Given the description of an element on the screen output the (x, y) to click on. 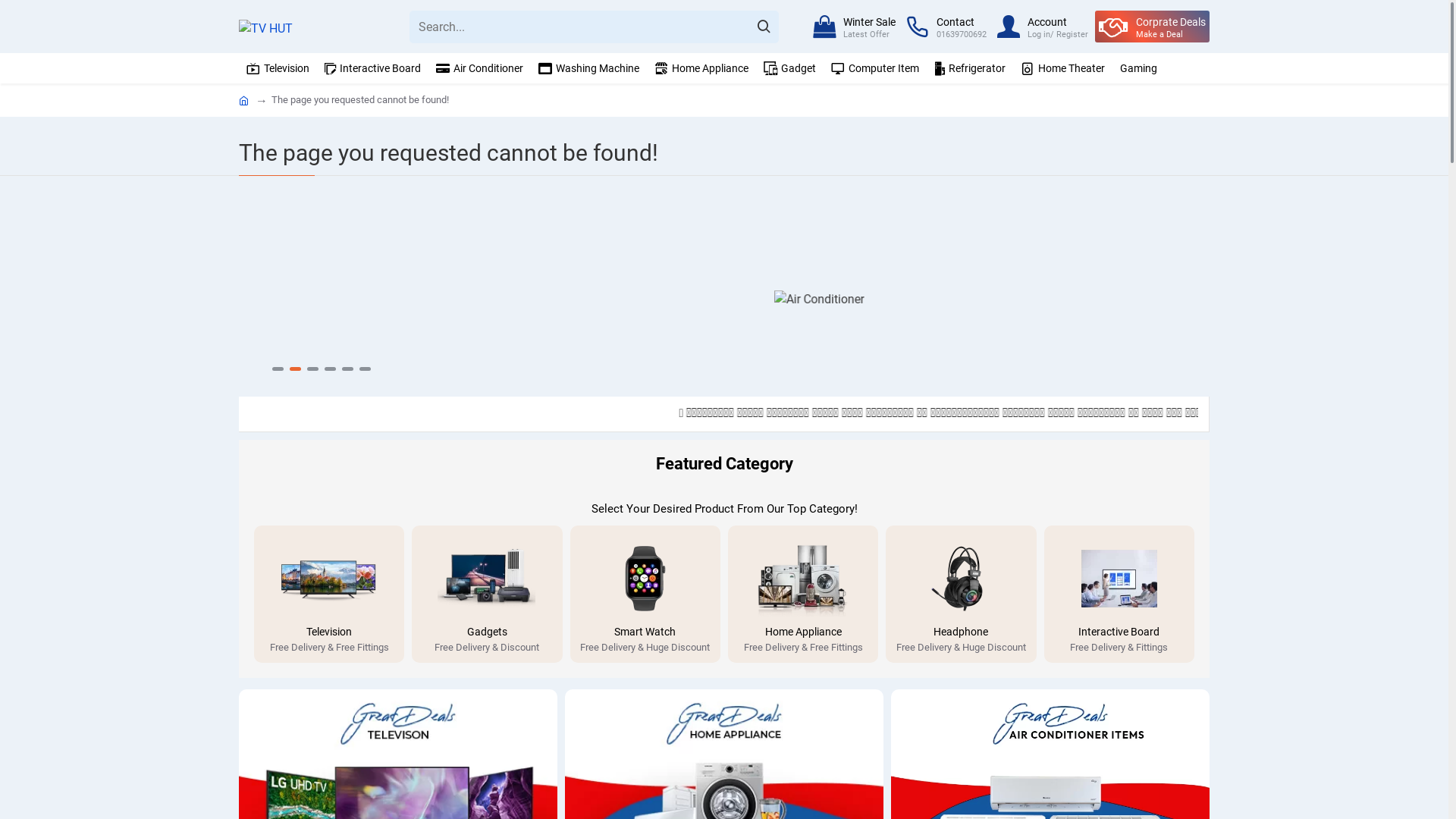
Interactive Board
Free Delivery & Fittings Element type: text (1119, 733)
Account
Log in/ Register Element type: text (1042, 26)
The page you requested cannot be found! Element type: text (359, 99)
Television
Free Delivery & Free Fittings Element type: text (329, 733)
Gadget Element type: text (787, 68)
Home Appliance Element type: text (699, 68)
Contact
01639700692 Element type: text (946, 26)
TV HUT Element type: hover (265, 26)
Television Element type: text (275, 68)
Gadgets
Free Delivery & Discount Element type: text (486, 733)
Home Appliance
Free Delivery & Free Fittings Element type: text (803, 733)
Interactive Board Element type: text (370, 68)
Corprate Deals
Make a Deal Element type: text (1152, 26)
Air Conditioner Element type: text (477, 68)
Computer Item Element type: text (872, 68)
Washing Machine Element type: text (586, 68)
Home Theater Element type: text (1060, 68)
Headphone
Free Delivery & Huge Discount Element type: text (960, 733)
Gaming Element type: text (1136, 68)
Winter Sale
Latest Offer Element type: text (854, 26)
Smart Watch
Free Delivery & Huge Discount Element type: text (645, 733)
Refrigerator Element type: text (967, 68)
